Given the description of an element on the screen output the (x, y) to click on. 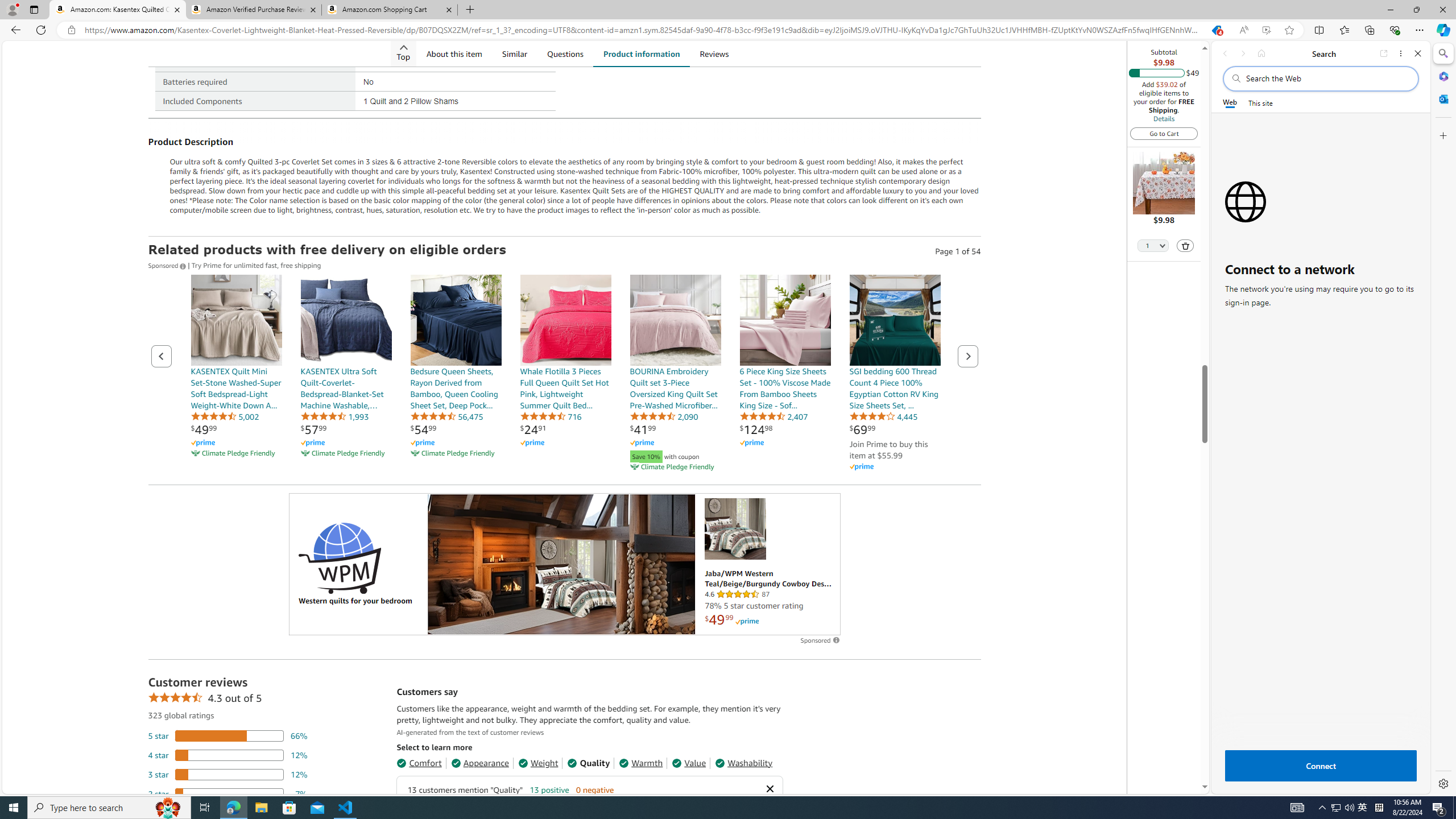
4,445$69.99Join Prime to buy this item at $55.99 (894, 373)
Washability (743, 762)
Comfort (419, 762)
Shopping in Microsoft Edge (1216, 29)
56,475 (446, 416)
Save 10% with coupon (674, 454)
2,090 (663, 416)
Amazon Verified Purchase Reviews - Amazon Customer Service (253, 9)
7 percent of reviews have 2 stars (227, 793)
